Given the description of an element on the screen output the (x, y) to click on. 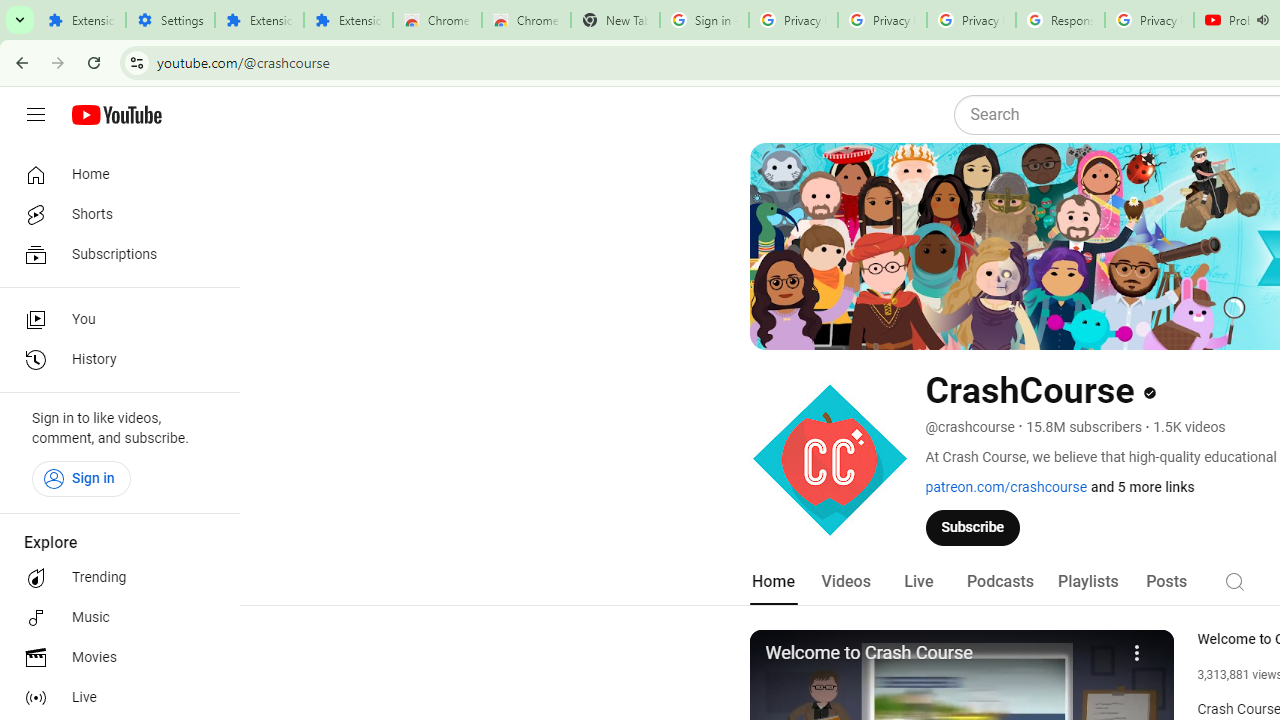
Music (113, 617)
Extensions (347, 20)
Sign in - Google Accounts (704, 20)
Chrome Web Store - Themes (526, 20)
History (113, 359)
New Tab (615, 20)
and 5 more links (1142, 487)
Mute tab (1262, 20)
Playlists (1088, 581)
